Given the description of an element on the screen output the (x, y) to click on. 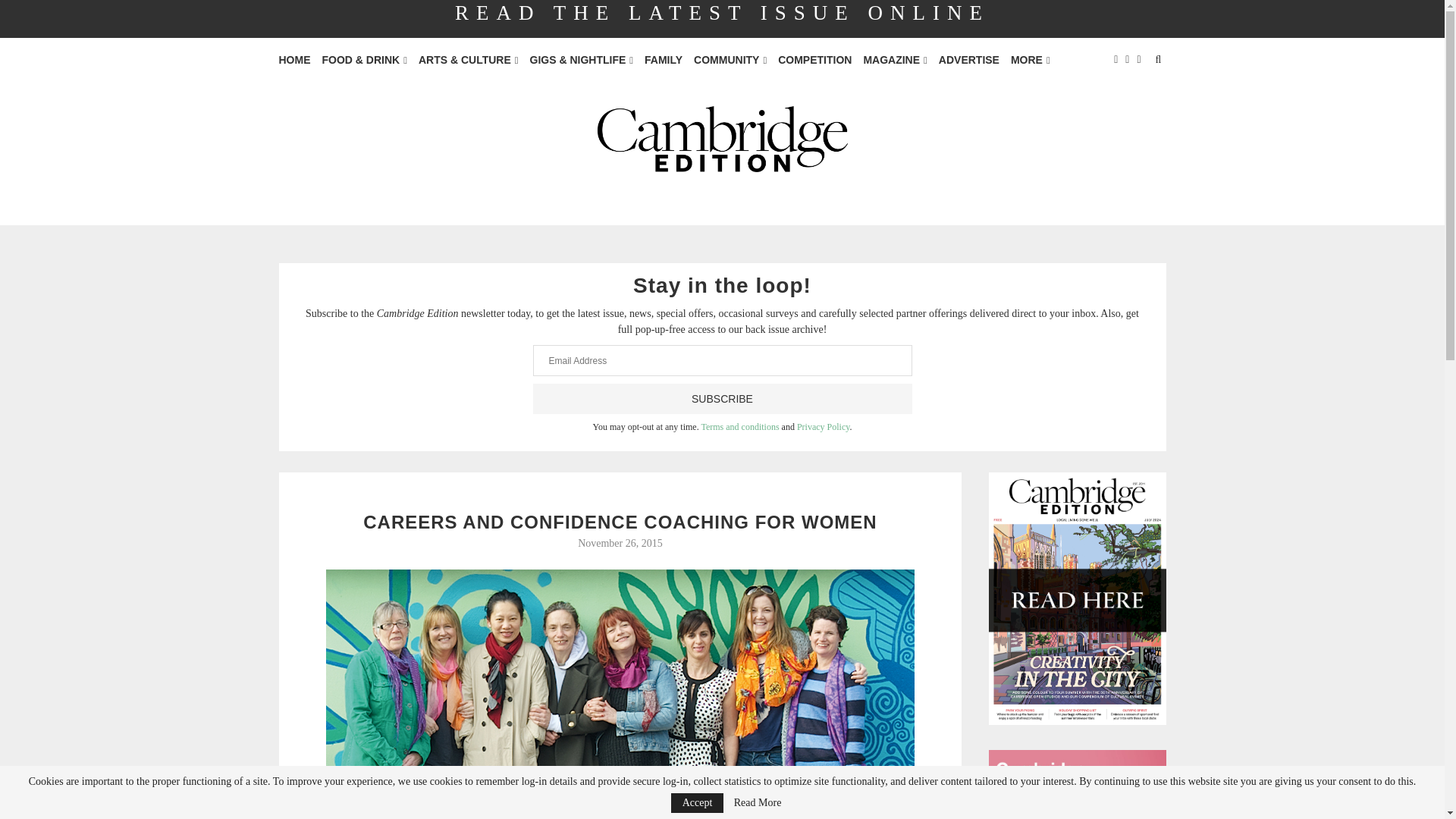
Subscribe (721, 399)
